Given the description of an element on the screen output the (x, y) to click on. 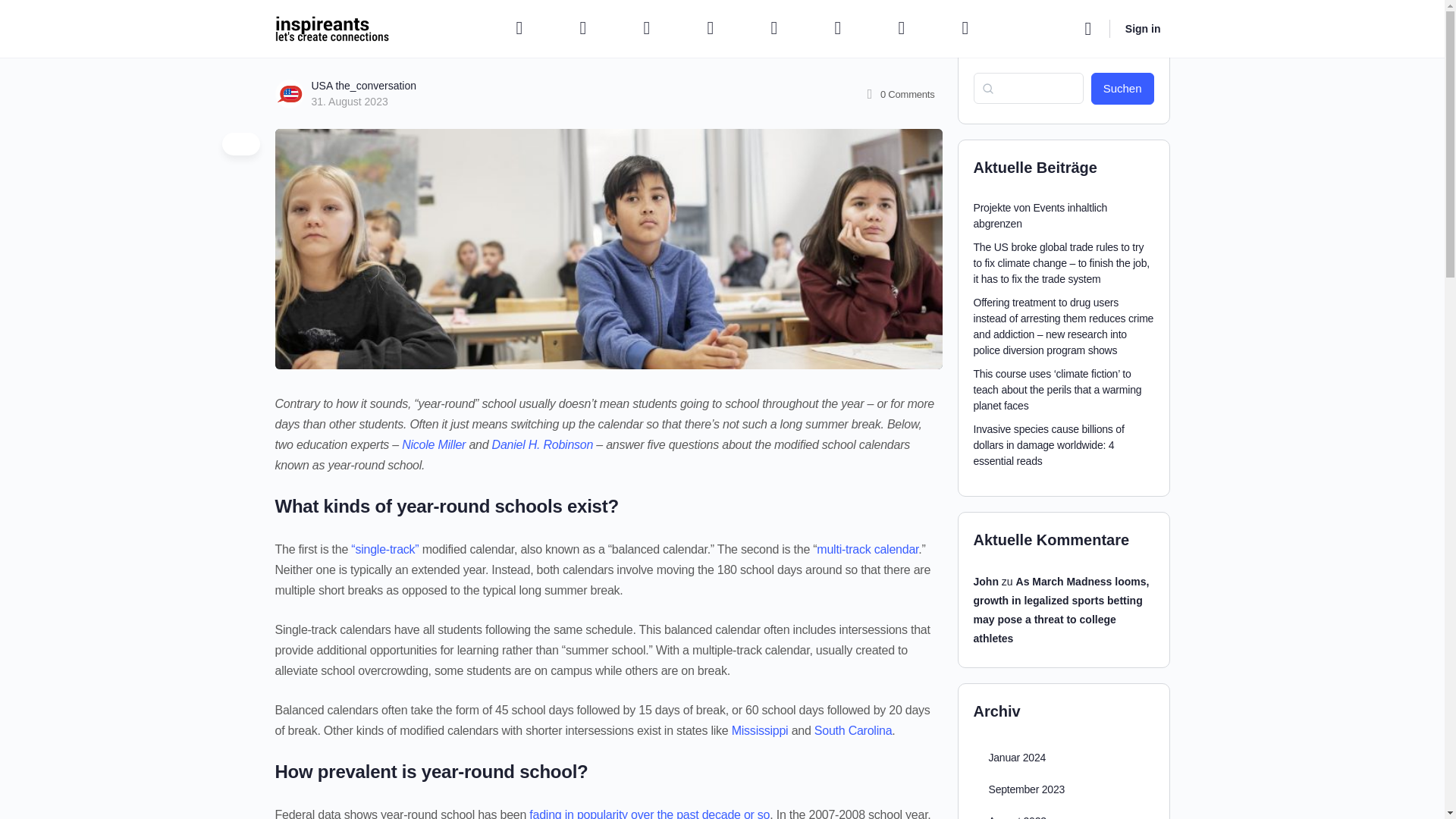
Sign in (1143, 28)
multi-track calendar (867, 549)
Nicole Miller (433, 444)
31. August 2023 (349, 101)
0 Comments (899, 94)
South Carolina (852, 730)
Mississippi (760, 730)
Daniel H. Robinson (543, 444)
